Given the description of an element on the screen output the (x, y) to click on. 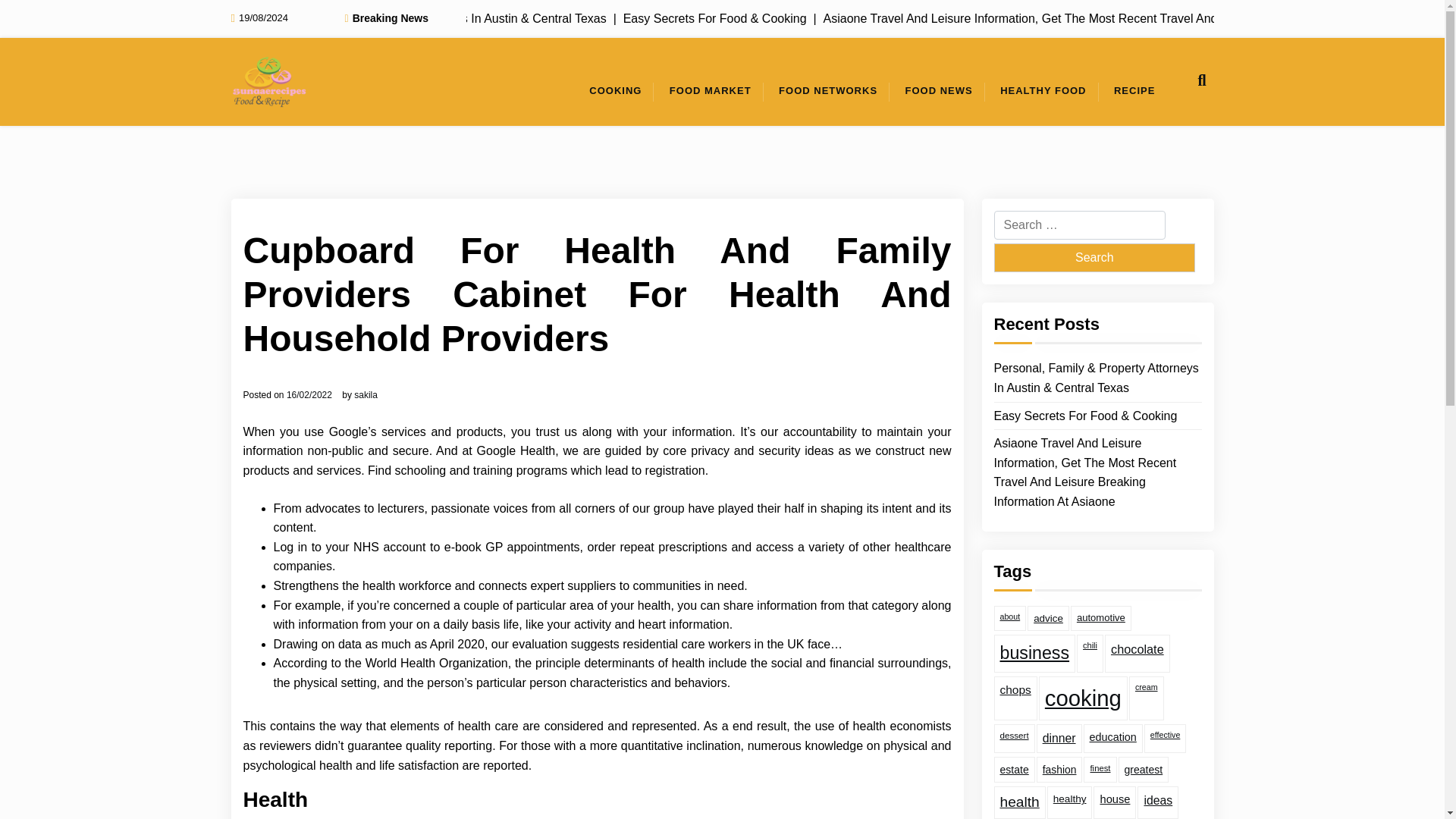
Search (1093, 257)
FOOD NETWORKS (828, 91)
Search (1093, 257)
sakila (365, 394)
HEALTHY FOOD (1042, 91)
RECIPE (1134, 91)
business (1033, 652)
about (1009, 618)
FOOD MARKET (710, 91)
chocolate (1137, 652)
